Given the description of an element on the screen output the (x, y) to click on. 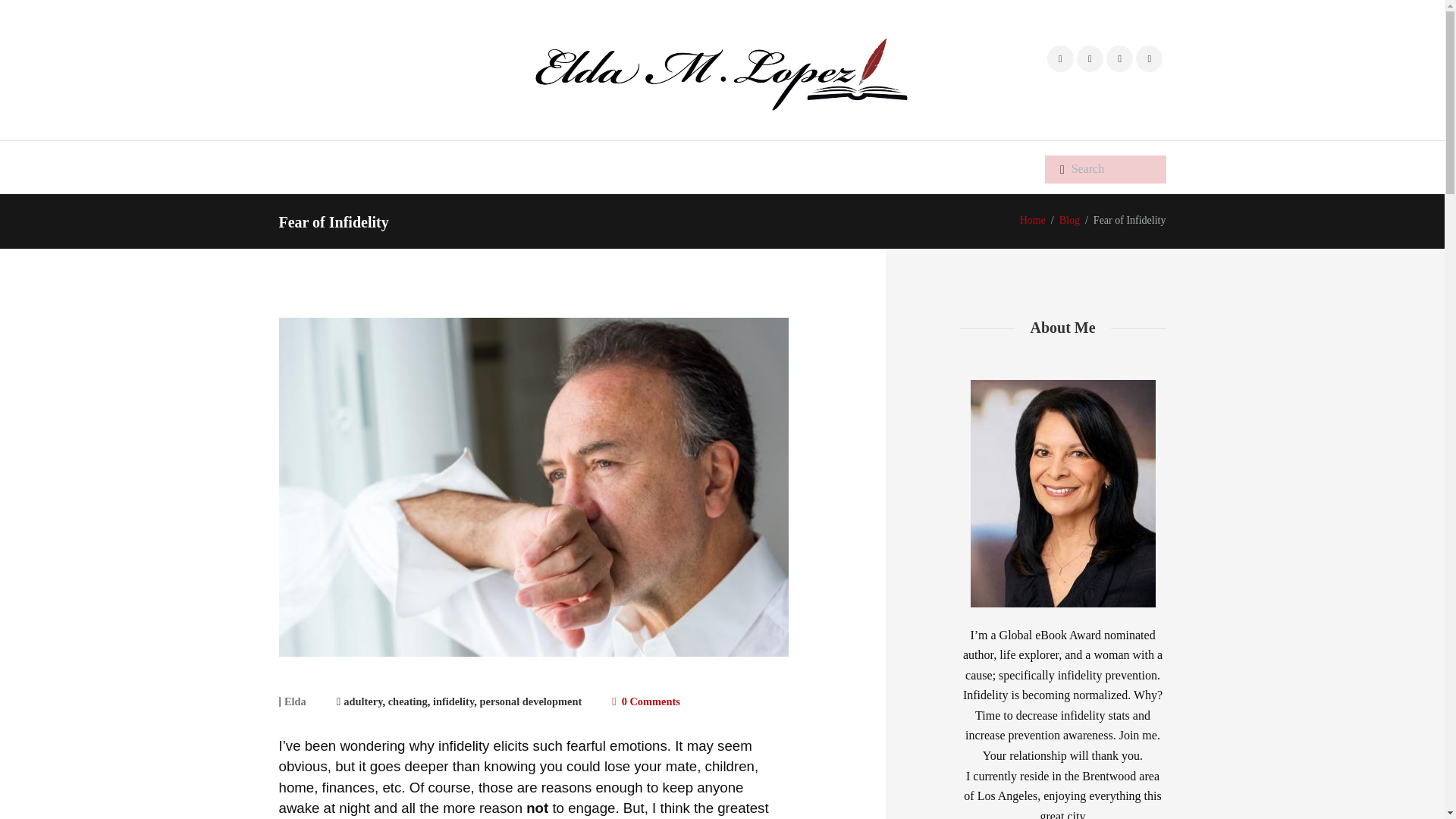
cheating (408, 701)
0 Comments (645, 701)
personal development (529, 701)
Elda (294, 701)
infidelity (453, 701)
adultery (362, 701)
Comments - 0 (645, 701)
Home (1032, 220)
Blog (1069, 220)
